Given the description of an element on the screen output the (x, y) to click on. 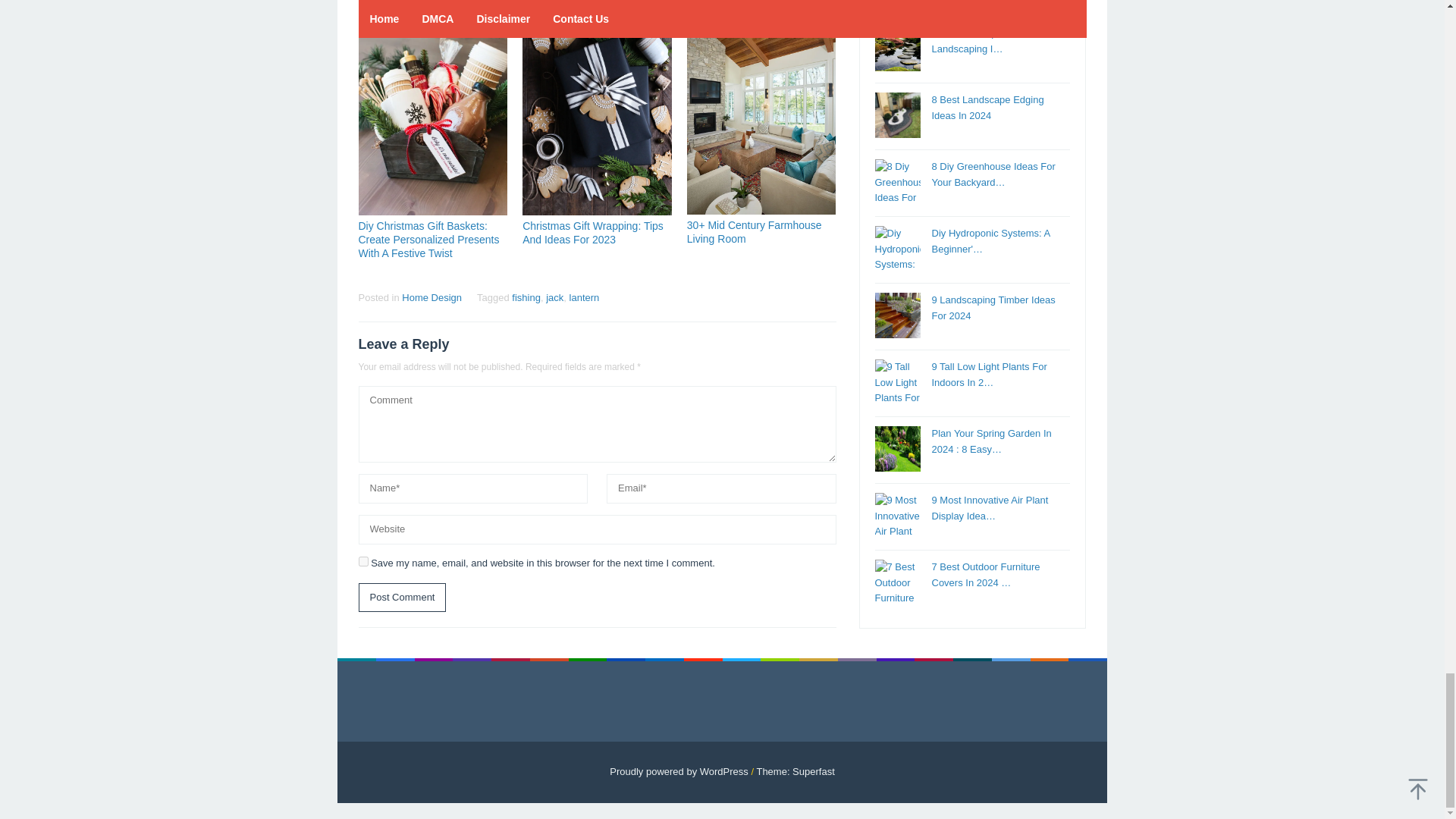
Post Comment (401, 597)
Post Comment (401, 597)
lantern (584, 297)
yes (363, 561)
Christmas Gift Wrapping: Tips And Ideas For 2023 (592, 232)
jack (554, 297)
Home Design (431, 297)
